Given the description of an element on the screen output the (x, y) to click on. 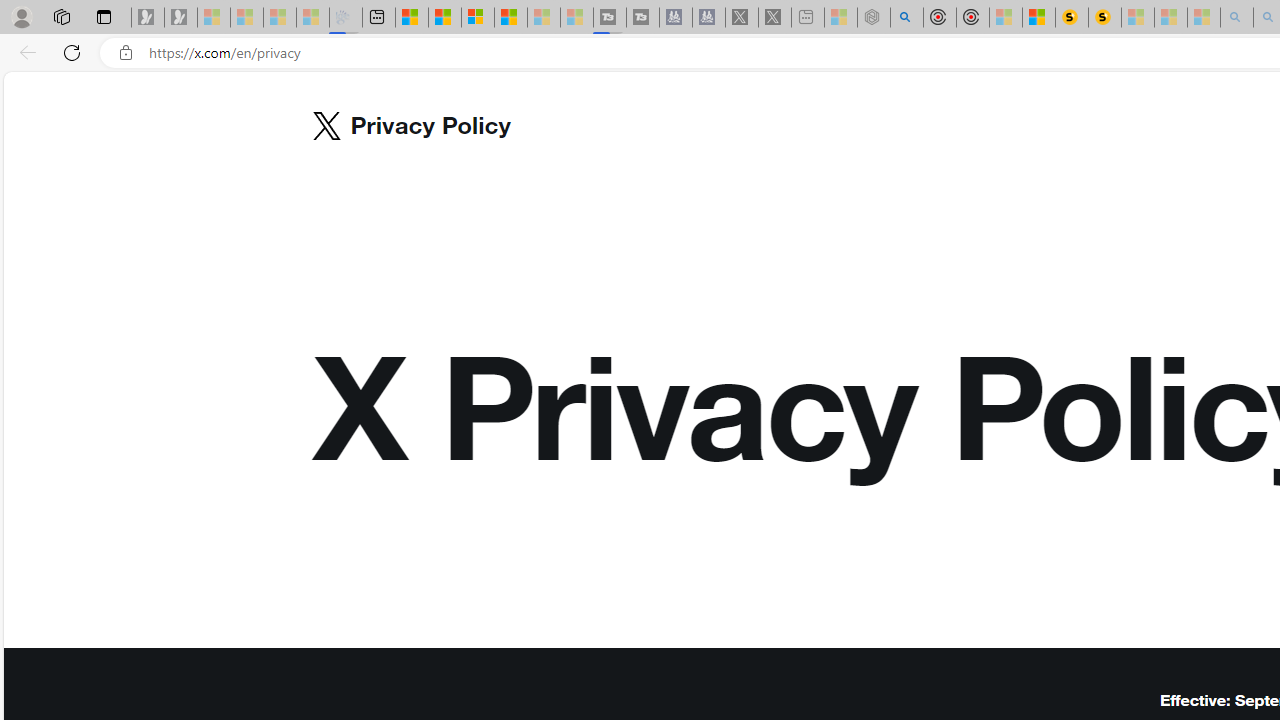
Wildlife - MSN - Sleeping (841, 17)
Streaming Coverage | T3 - Sleeping (609, 17)
Nordace - Summer Adventures 2024 - Sleeping (873, 17)
